Given the description of an element on the screen output the (x, y) to click on. 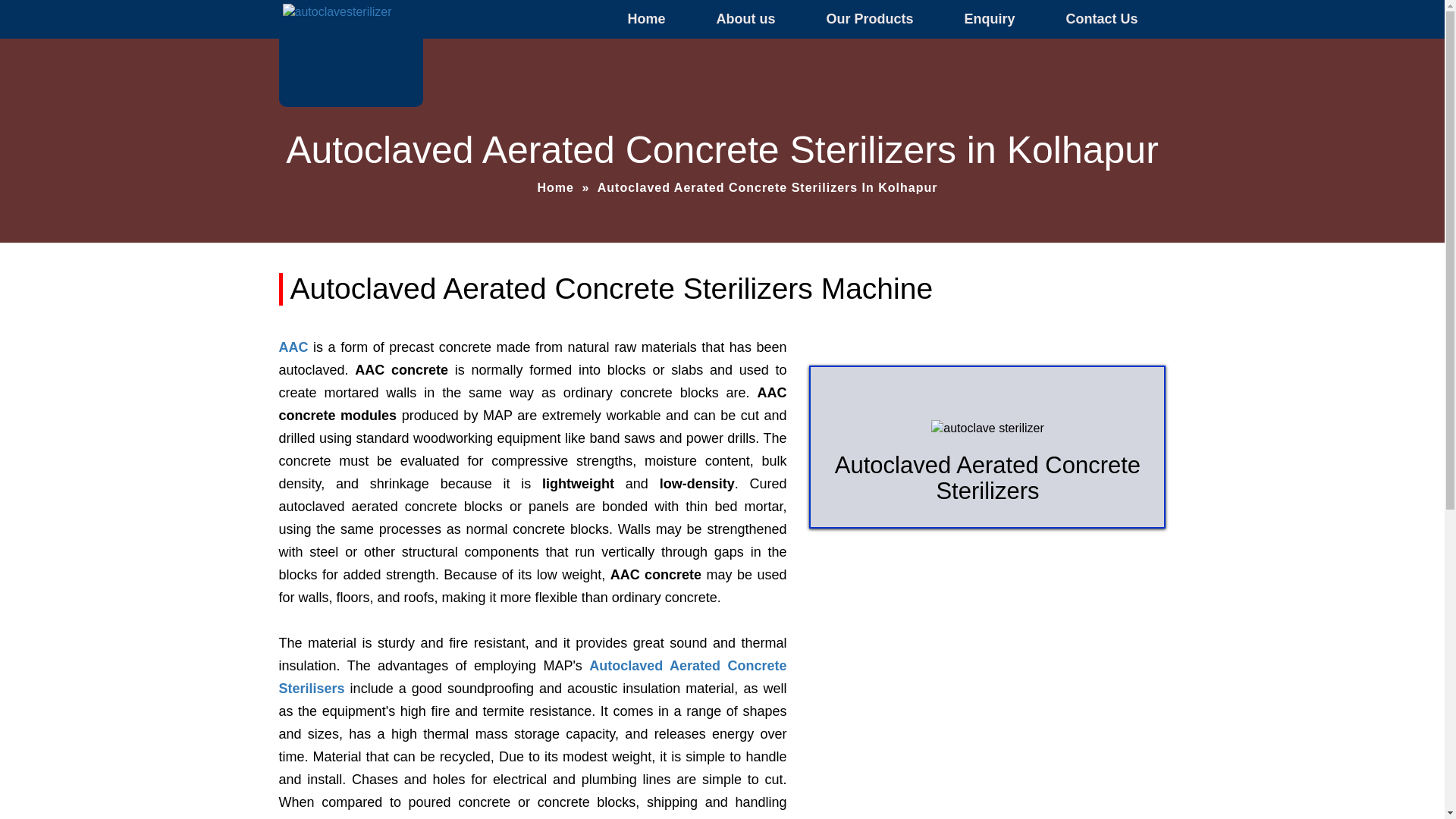
Contact Us (1101, 19)
Our Products (869, 19)
Enquiry (988, 19)
Home (555, 187)
Autoclaved Aerated Concrete Sterilisers (533, 677)
About us (745, 19)
AAC (293, 346)
Home (645, 19)
